Given the description of an element on the screen output the (x, y) to click on. 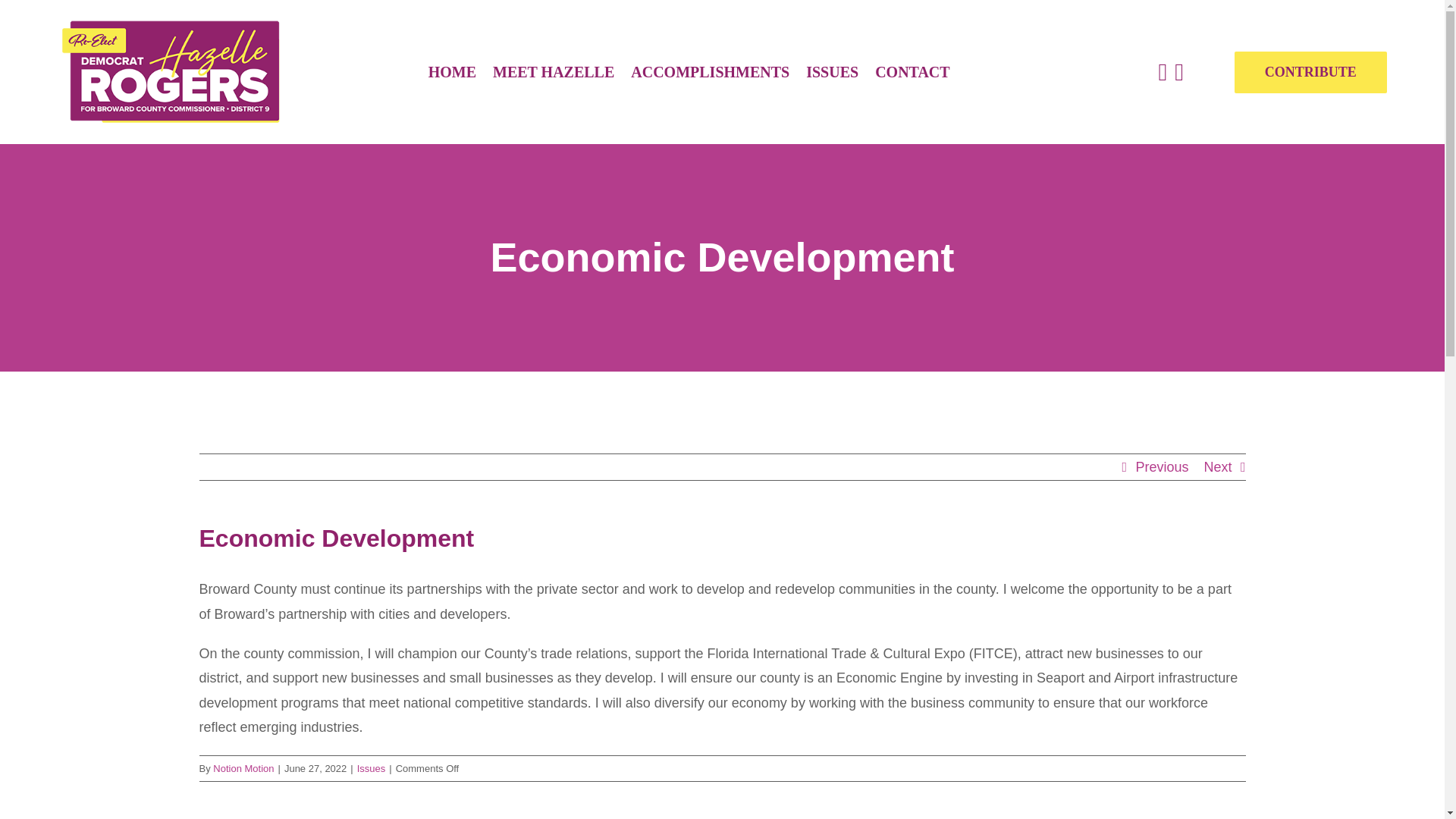
ISSUES (832, 72)
Next (1217, 466)
Notion Motion (242, 767)
MEET HAZELLE (553, 72)
Issues (370, 767)
HOME (452, 72)
Previous (1161, 466)
CONTACT (912, 72)
ACCOMPLISHMENTS (709, 72)
CONTRIBUTE (1310, 72)
